Given the description of an element on the screen output the (x, y) to click on. 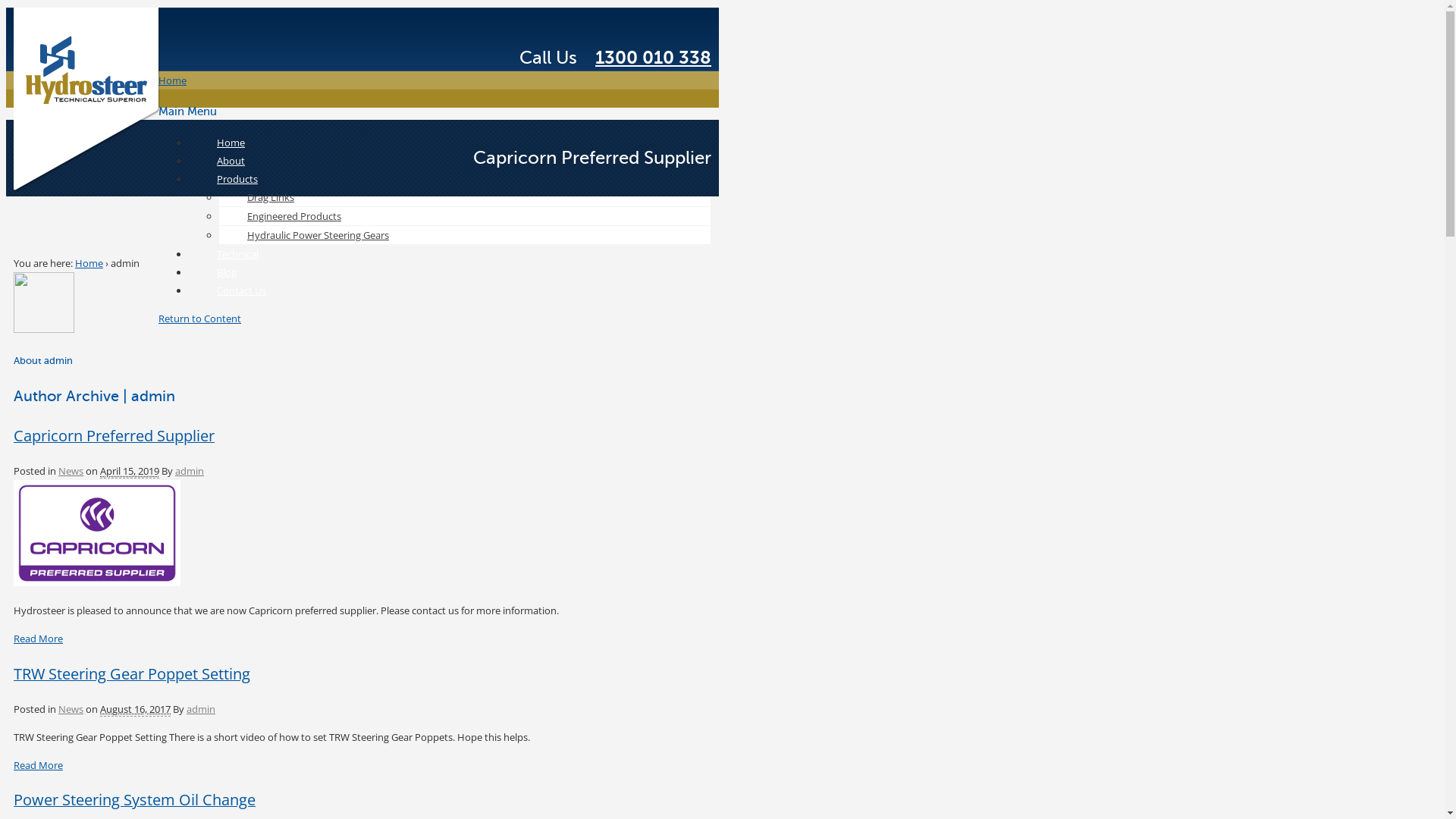
Capricorn Preferred Supplier Element type: text (113, 435)
Contact Us Element type: text (241, 290)
Hydraulic Power Steering for heavy vehicles. Element type: hover (87, 190)
1300 010 338 Element type: text (653, 57)
Capricorn Preferred Supplier Element type: hover (96, 533)
Home Element type: text (89, 262)
Capricorn Preferred Supplier Element type: hover (96, 582)
News Element type: text (70, 708)
admin Element type: text (200, 708)
News Element type: text (70, 470)
Read More Element type: text (37, 638)
About Element type: text (230, 160)
Engineered Products Element type: text (294, 216)
Home Element type: text (172, 80)
Technical Element type: text (237, 254)
TRW Steering Gear Poppet Setting Element type: text (131, 673)
Products Element type: text (236, 178)
Home Element type: text (230, 142)
Return to Content Element type: text (199, 318)
Power Steering System Oil Change Element type: text (134, 799)
Blog Element type: text (226, 272)
Read More Element type: text (37, 764)
admin Element type: text (189, 470)
Drag Links Element type: text (270, 197)
Hydraulic Power Steering Gears Element type: text (318, 235)
